Given the description of an element on the screen output the (x, y) to click on. 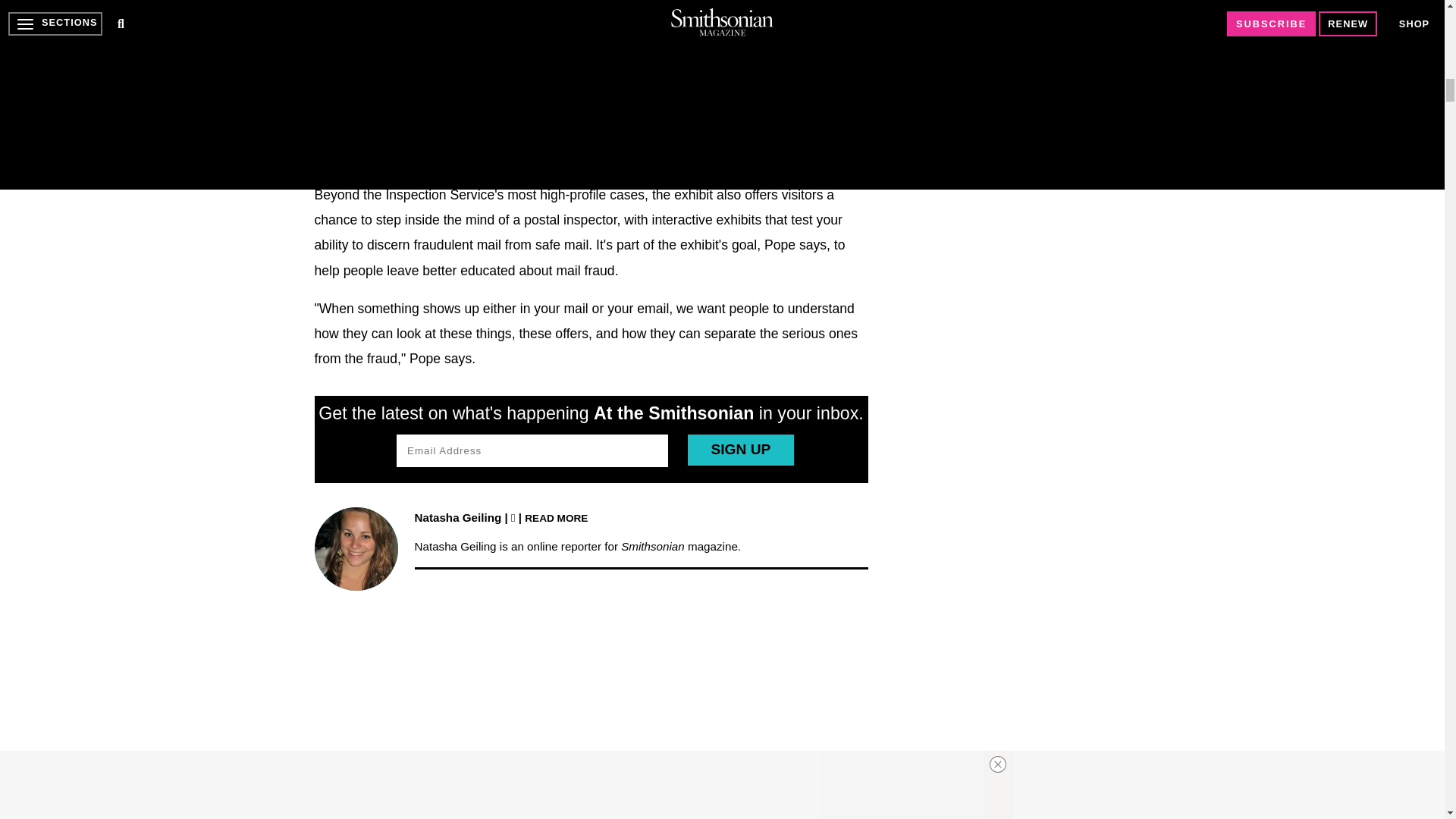
Sign Up (740, 450)
